Given the description of an element on the screen output the (x, y) to click on. 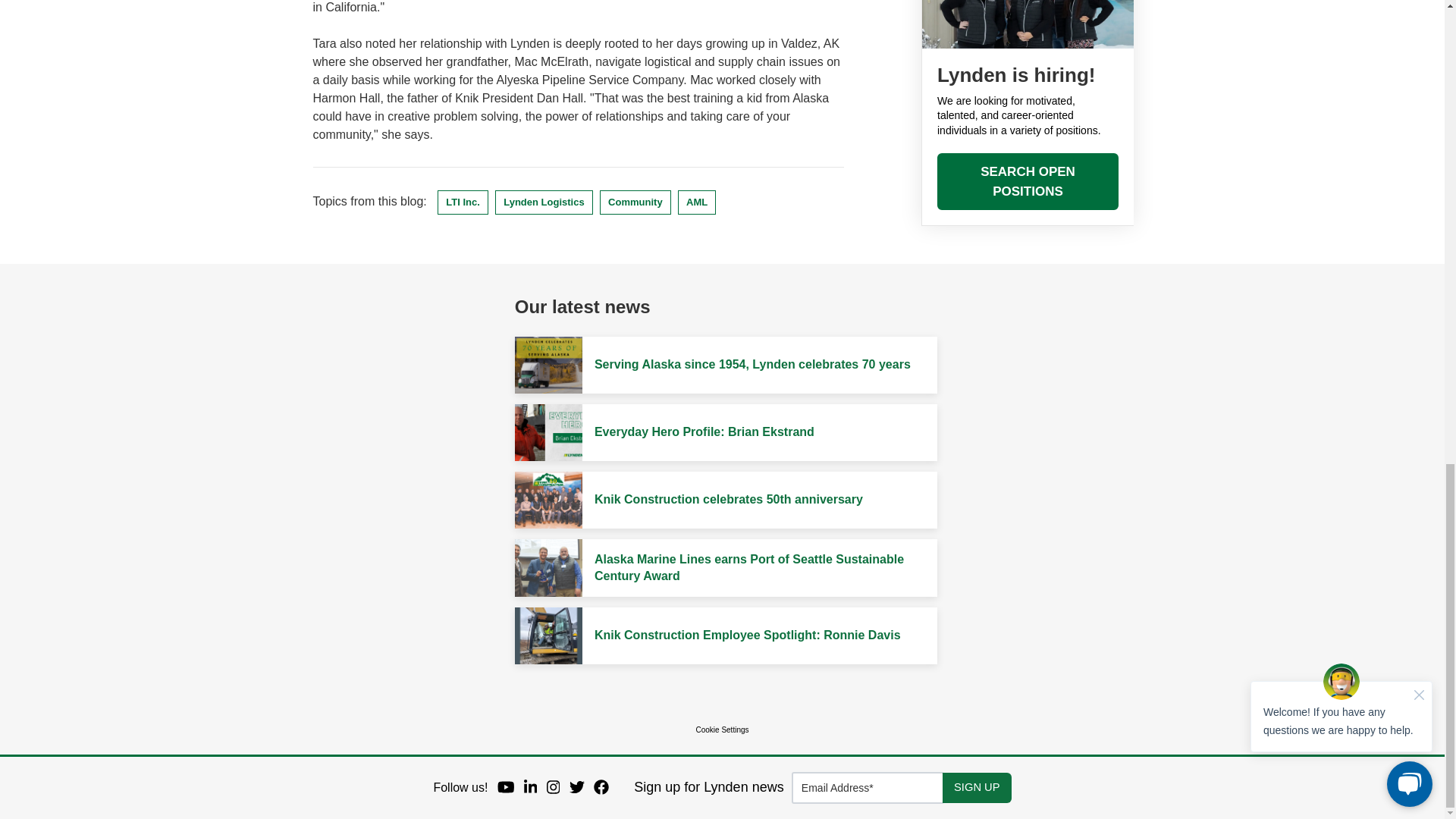
Serving Alaska since 1954, Lynden celebrates 70 years (752, 364)
AML (697, 202)
LTI Inc. (462, 202)
Everyday Hero Profile: Brian Ekstrand (703, 432)
Lynden Logistics (543, 202)
Knik Construction Employee Spotlight: Ronnie Davis (747, 635)
Knik Construction celebrates 50th anniversary (728, 499)
Cookie Settings (721, 729)
Community (635, 202)
